Given the description of an element on the screen output the (x, y) to click on. 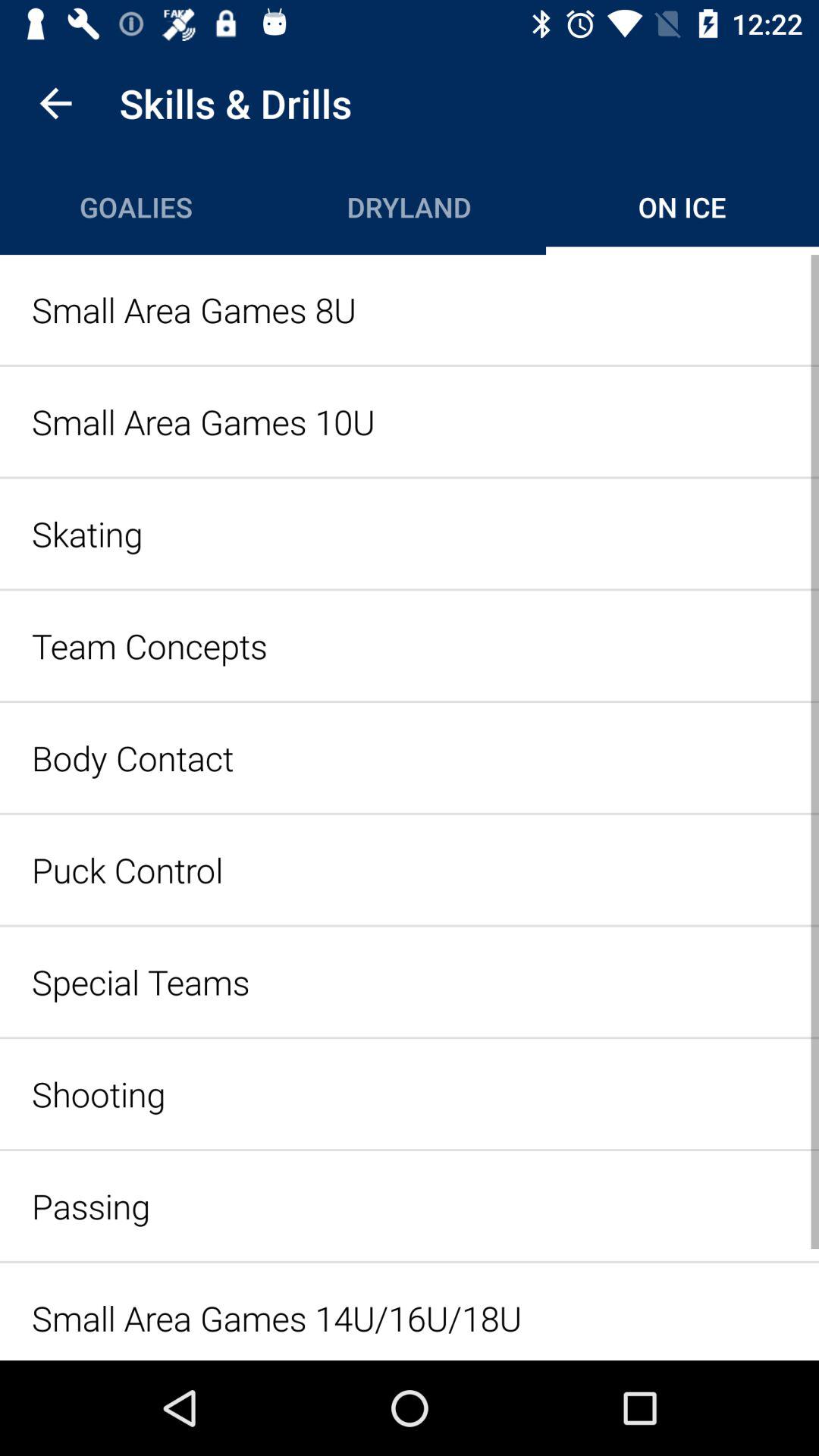
select item next to the skills & drills icon (55, 103)
